Given the description of an element on the screen output the (x, y) to click on. 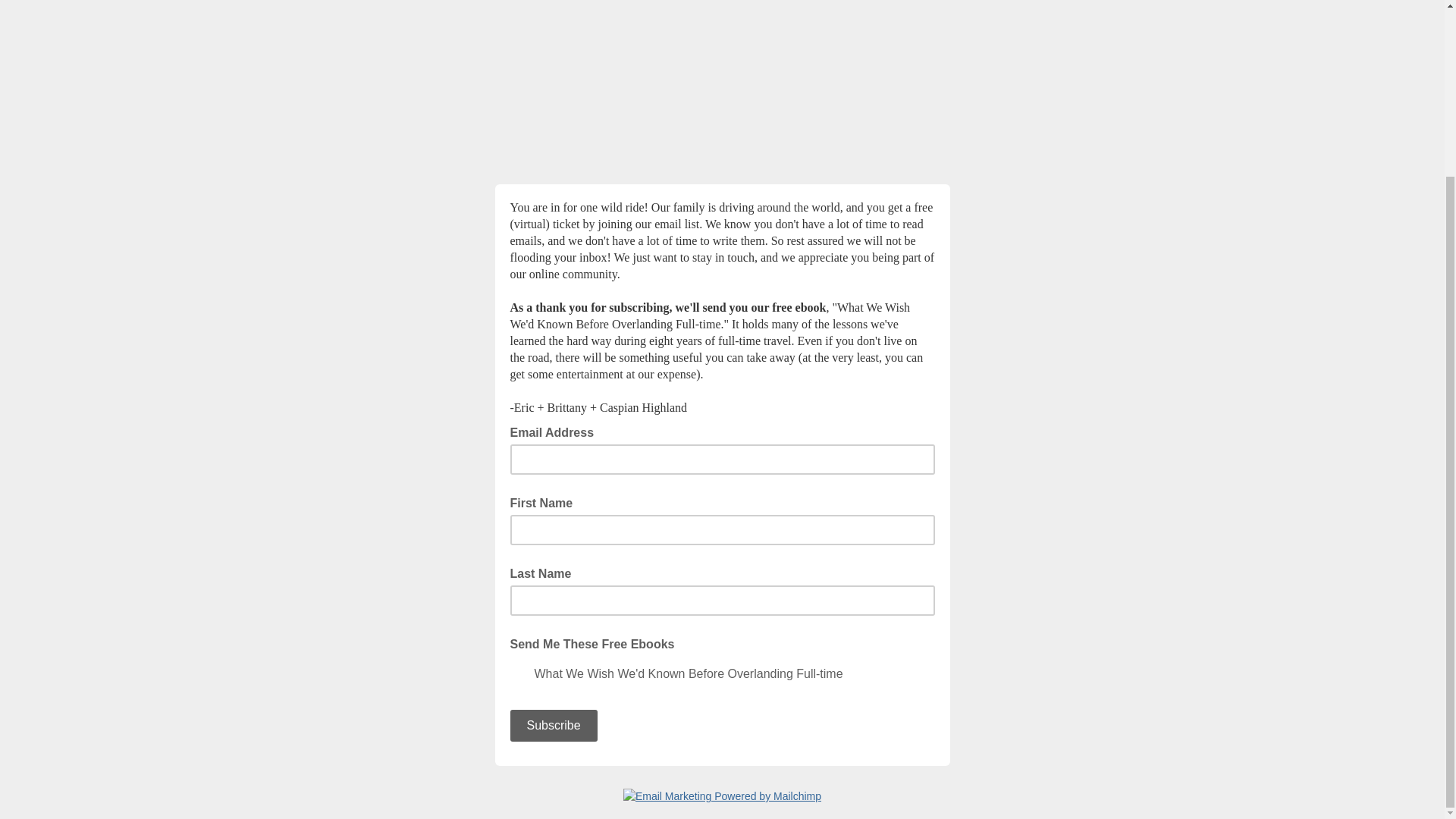
Subscribe (552, 726)
Mailchimp Email Marketing (722, 795)
Subscribe (552, 726)
